Given the description of an element on the screen output the (x, y) to click on. 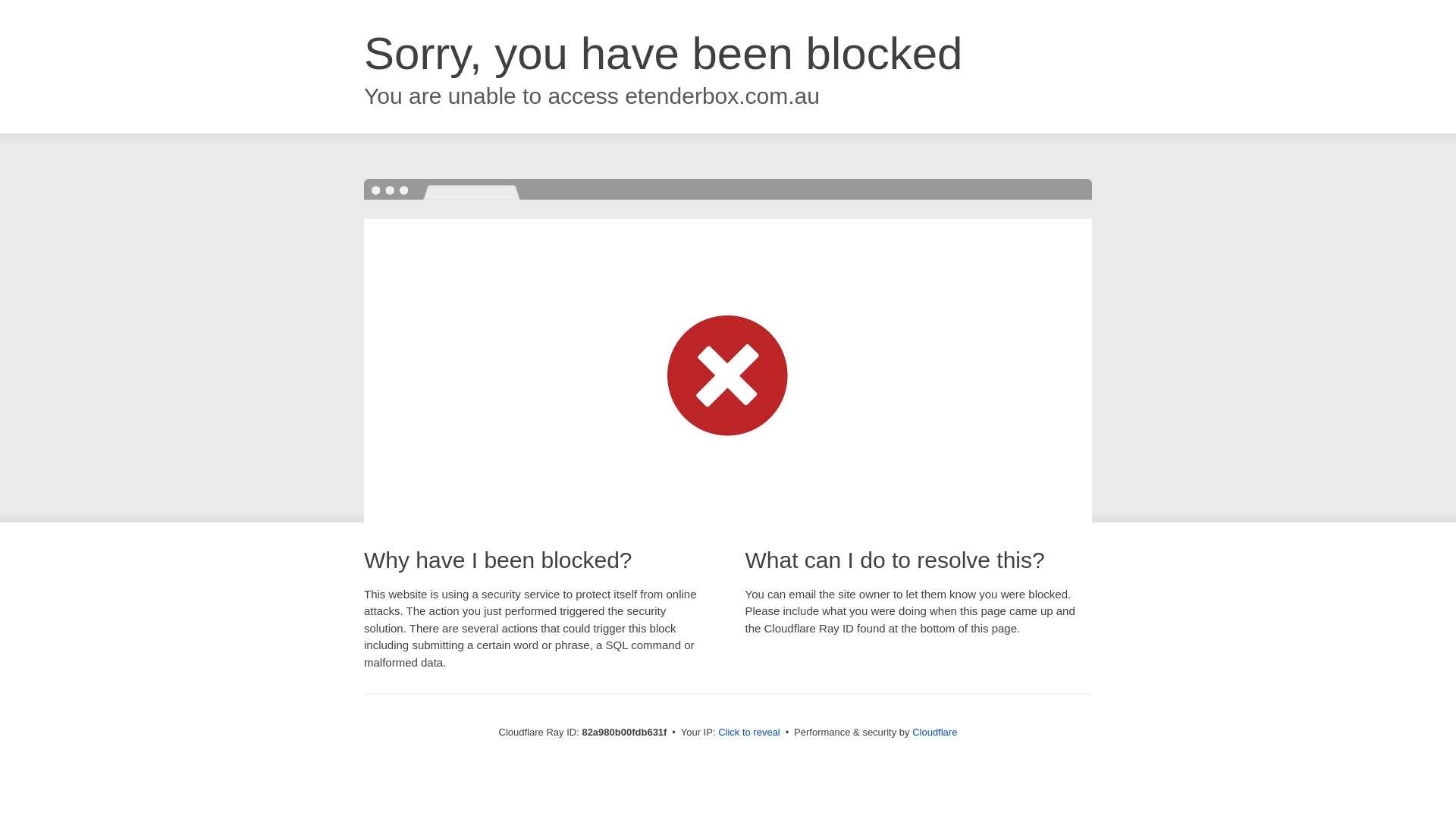
Cloudflare Element type: text (934, 731)
Click to reveal Element type: text (749, 732)
